Given the description of an element on the screen output the (x, y) to click on. 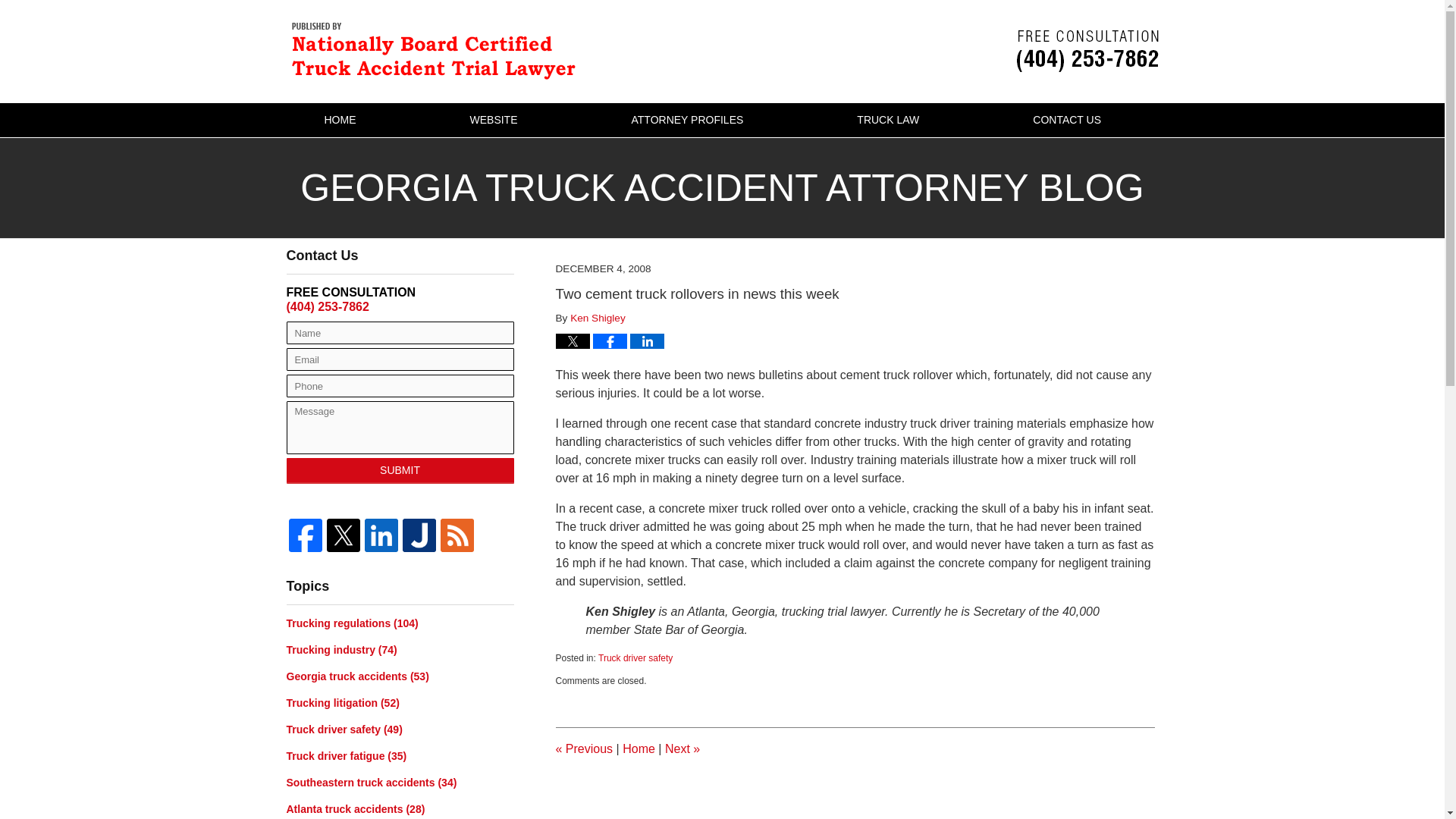
Justia (419, 535)
Facebook (305, 535)
HOME (339, 120)
SUBMIT (399, 470)
View all posts in Truck driver safety (635, 657)
LinkedIn (381, 535)
ATTORNEY PROFILES (687, 120)
Twitter (343, 535)
WEBSITE (492, 120)
Ken Shigley (598, 317)
Home (639, 748)
Truck driver safety (635, 657)
Published By Kenneth L. Shigley, LLC (1086, 51)
Feed (457, 535)
Fiery truck crash kills great-grandmother in Virginia (682, 748)
